Given the description of an element on the screen output the (x, y) to click on. 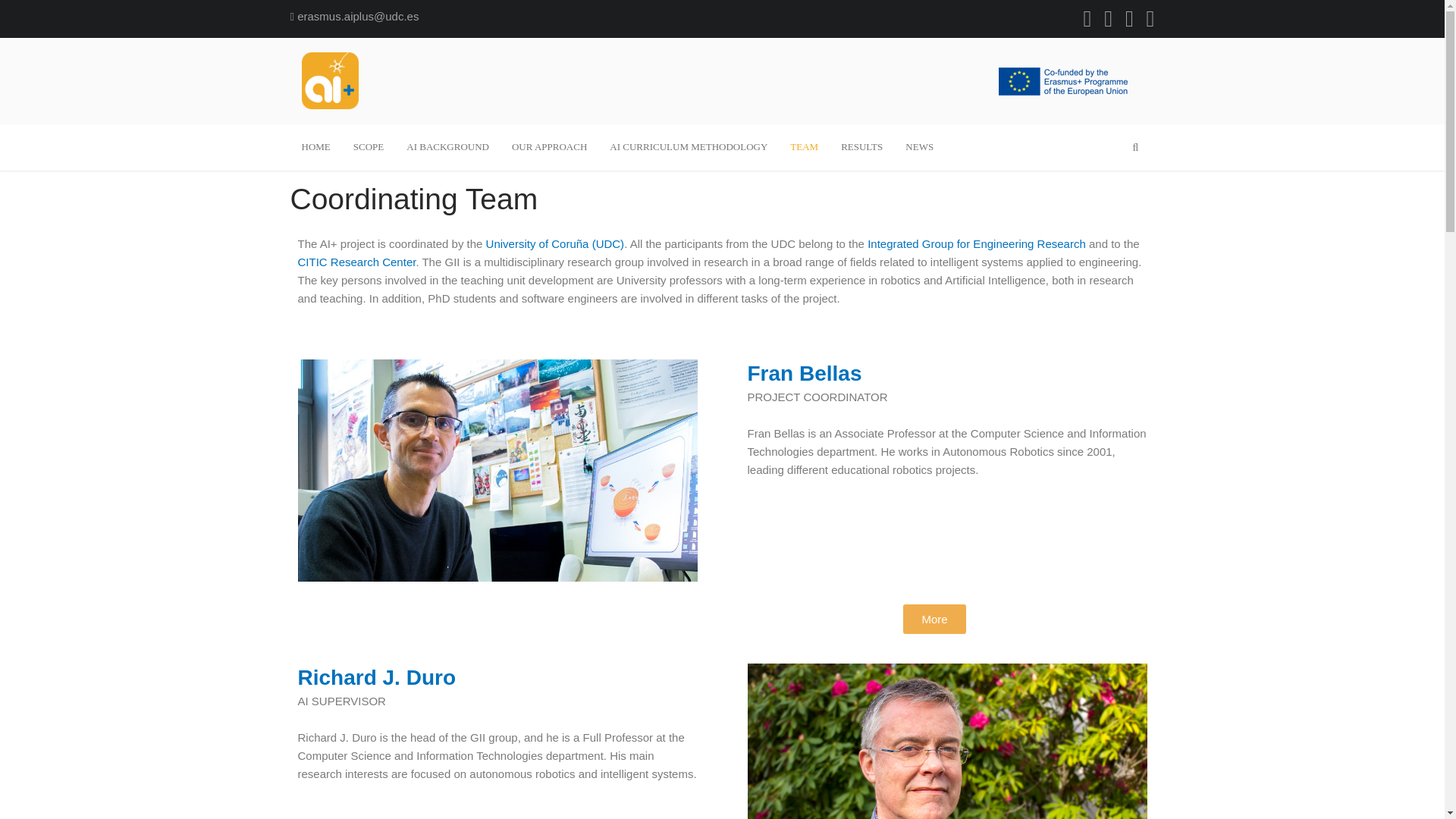
OUR APPROACH (549, 147)
More (933, 618)
RESULTS (861, 147)
AI BACKGROUND (447, 147)
CITIC Research Center (355, 261)
HOME (314, 147)
Integrated Group for Engineering Research (976, 243)
TEAM (803, 147)
NEWS (918, 147)
SCOPE (368, 147)
AI CURRICULUM METHODOLOGY (688, 147)
